Given the description of an element on the screen output the (x, y) to click on. 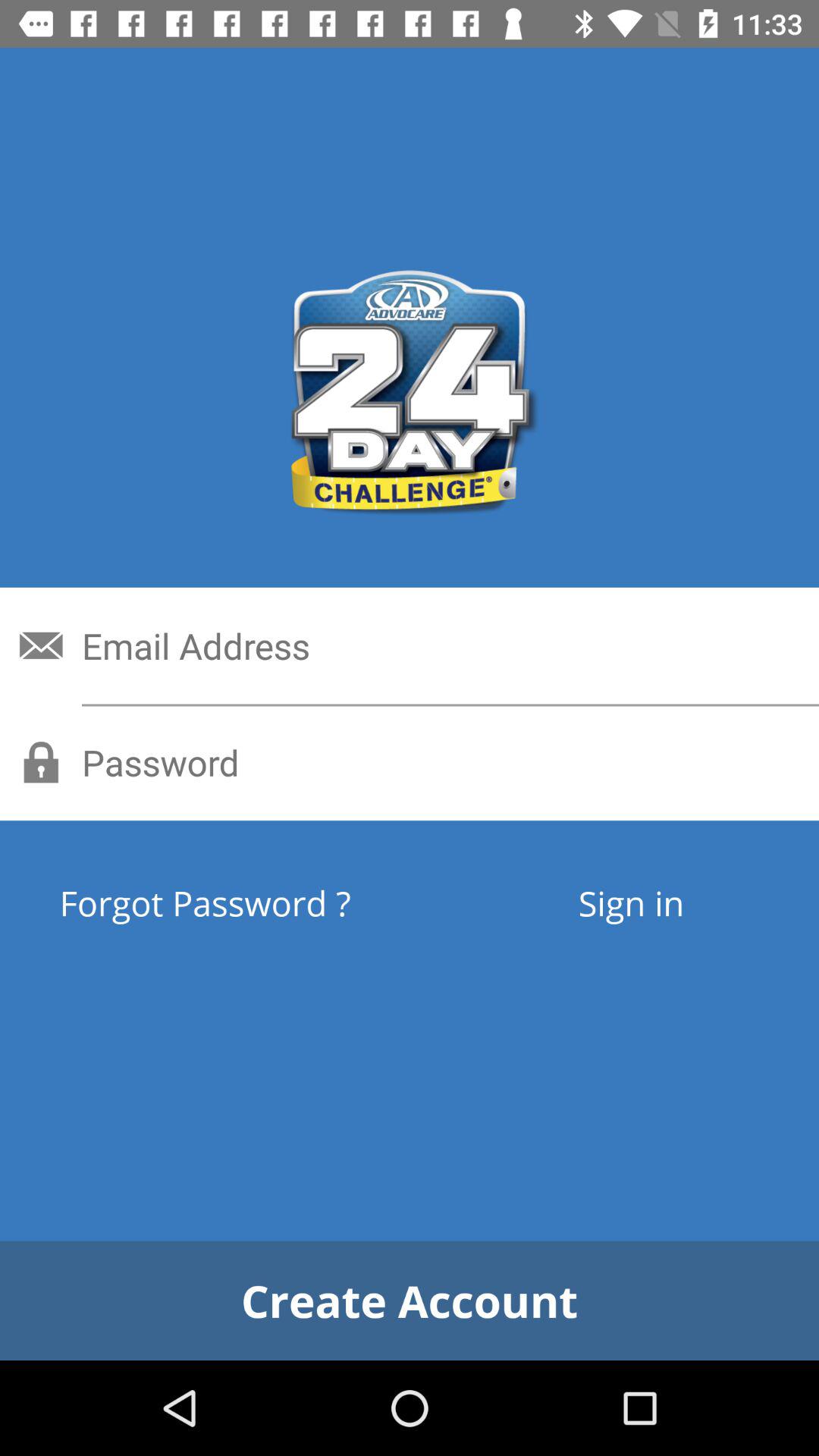
open the item to the left of sign in item (261, 902)
